Given the description of an element on the screen output the (x, y) to click on. 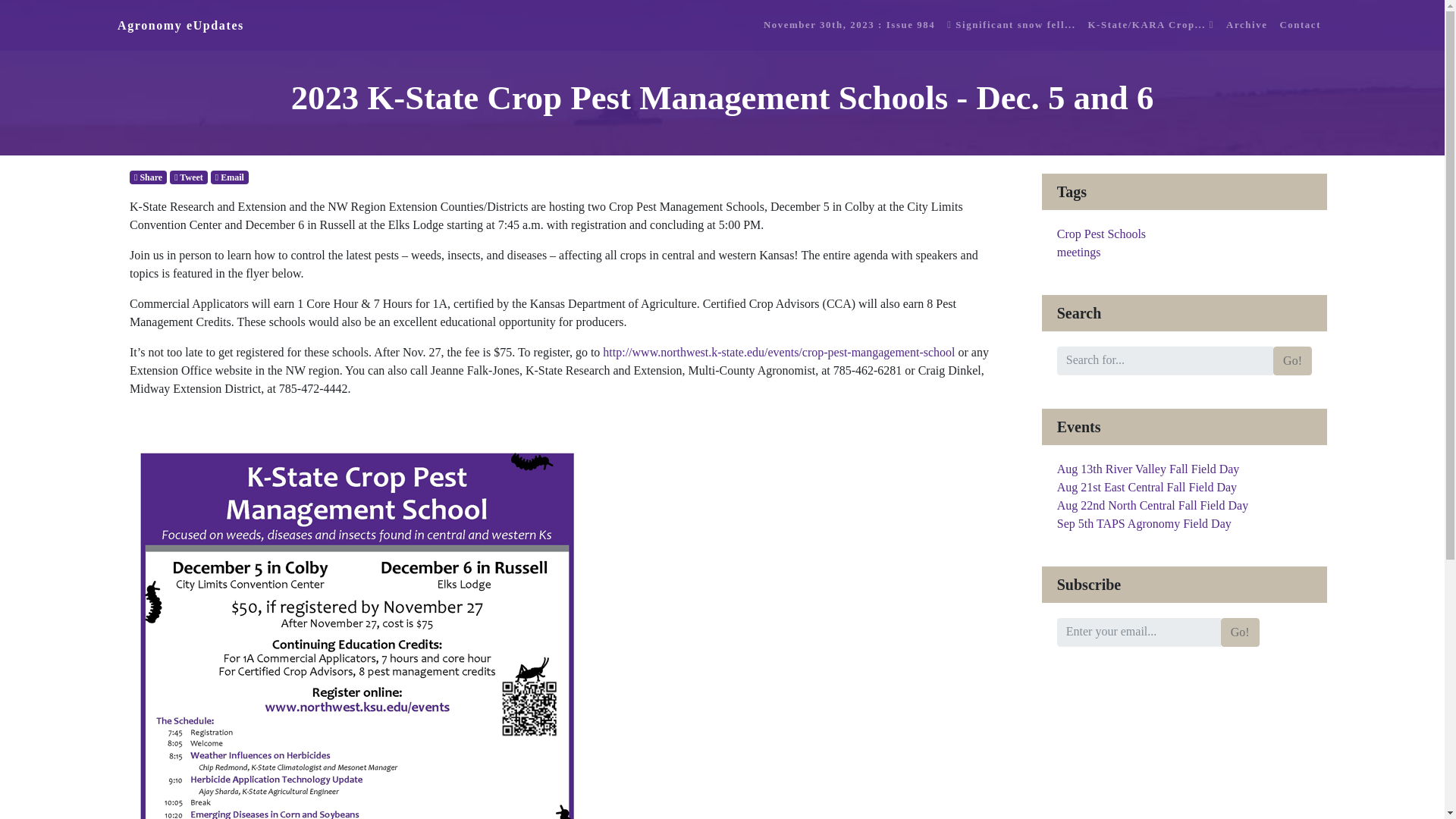
Tweet (189, 177)
Agronomy eUpdates (180, 25)
 Significant snow fell... (1010, 25)
Crop Pest Schools (1101, 233)
Archive (1246, 25)
meetings (1078, 251)
Contact (1299, 25)
Go! (1291, 360)
Sep 5th TAPS Agronomy Field Day (1144, 522)
Aug 21st East Central Fall Field Day (1146, 486)
